Given the description of an element on the screen output the (x, y) to click on. 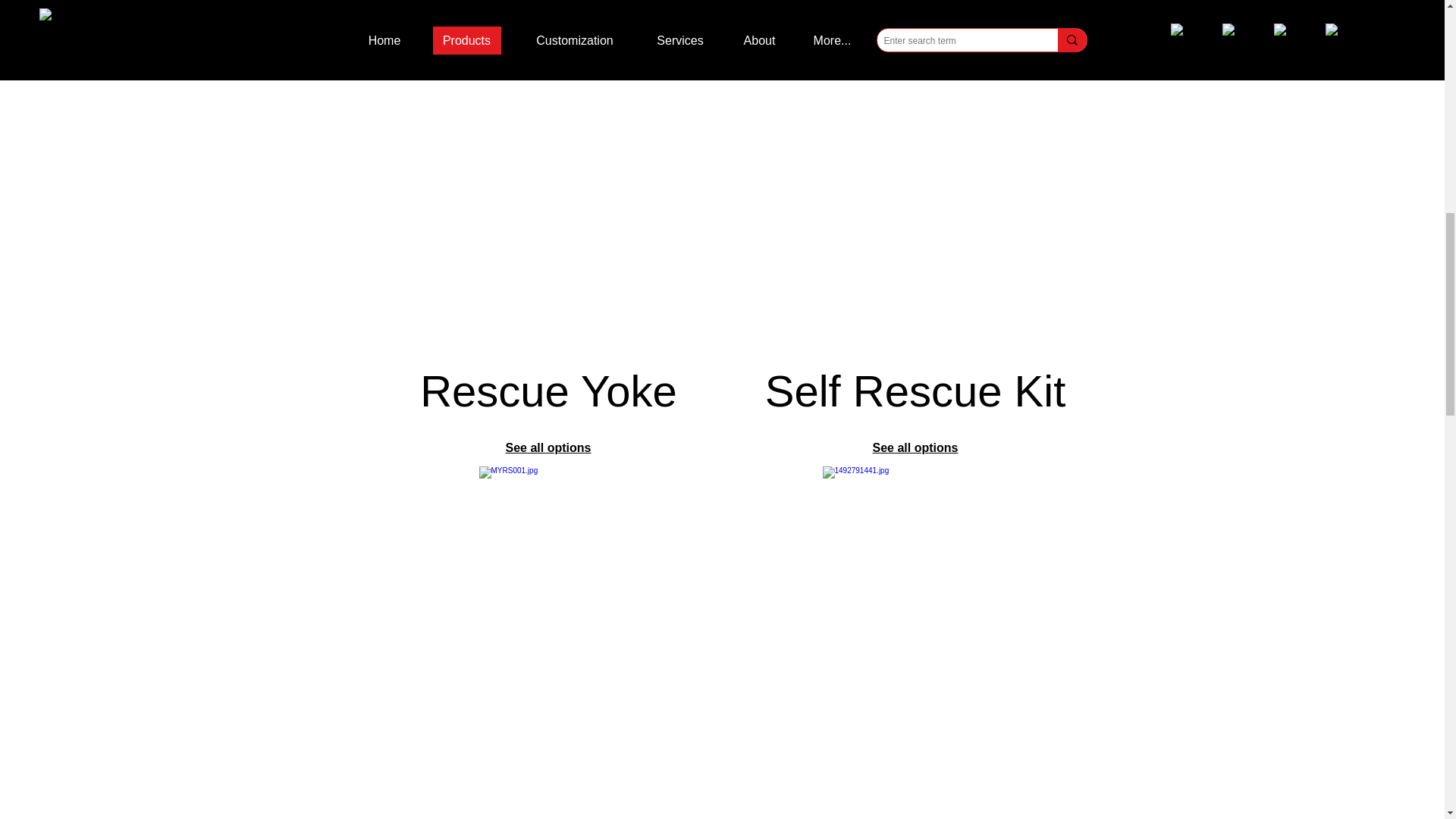
See all options (548, 447)
See all options (915, 447)
